Given the description of an element on the screen output the (x, y) to click on. 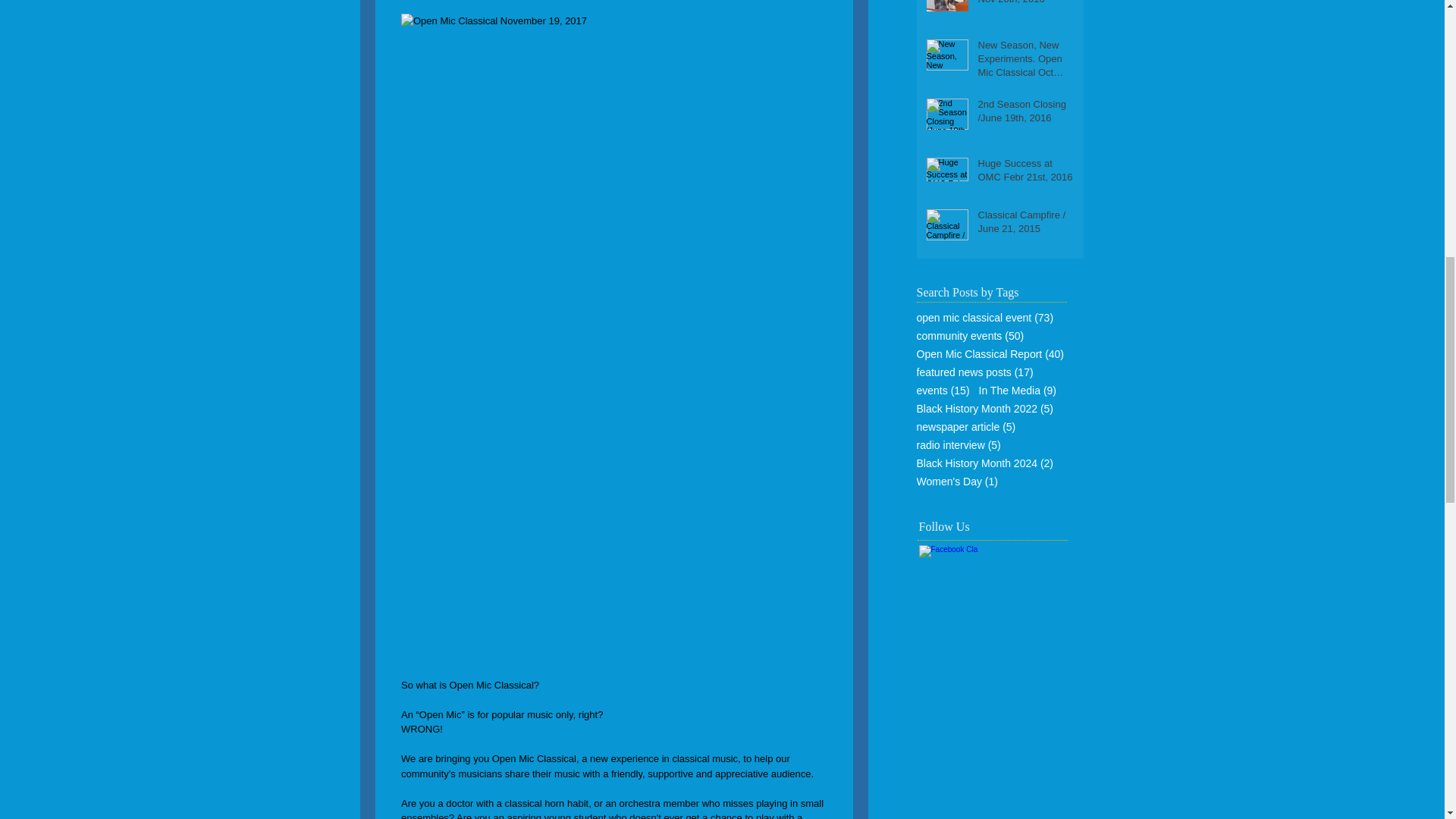
Huge Success at OMC Febr 21st, 2016 (1026, 173)
